Given the description of an element on the screen output the (x, y) to click on. 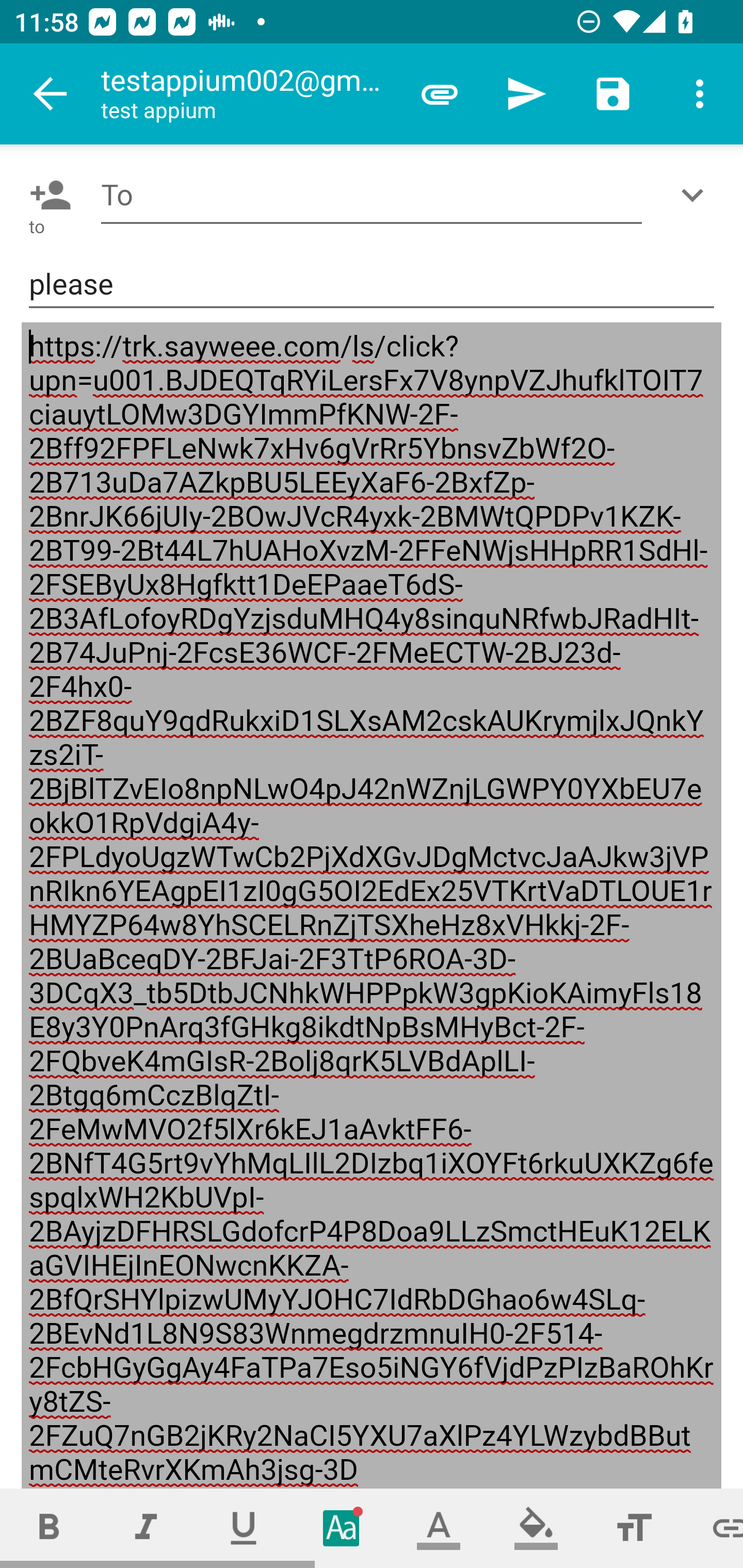
Navigate up (50, 93)
testappium002@gmail.com test appium (248, 93)
Attach (439, 93)
Send (525, 93)
Save (612, 93)
More options (699, 93)
Pick contact: To (46, 195)
Show/Add CC/BCC (696, 195)
To (371, 195)
please (371, 284)
Bold (48, 1528)
Italic (145, 1528)
Underline (243, 1528)
Typeface (font) (341, 1528)
Text color (438, 1528)
Fill color (536, 1528)
Font size (633, 1528)
Set link (712, 1528)
